Given the description of an element on the screen output the (x, y) to click on. 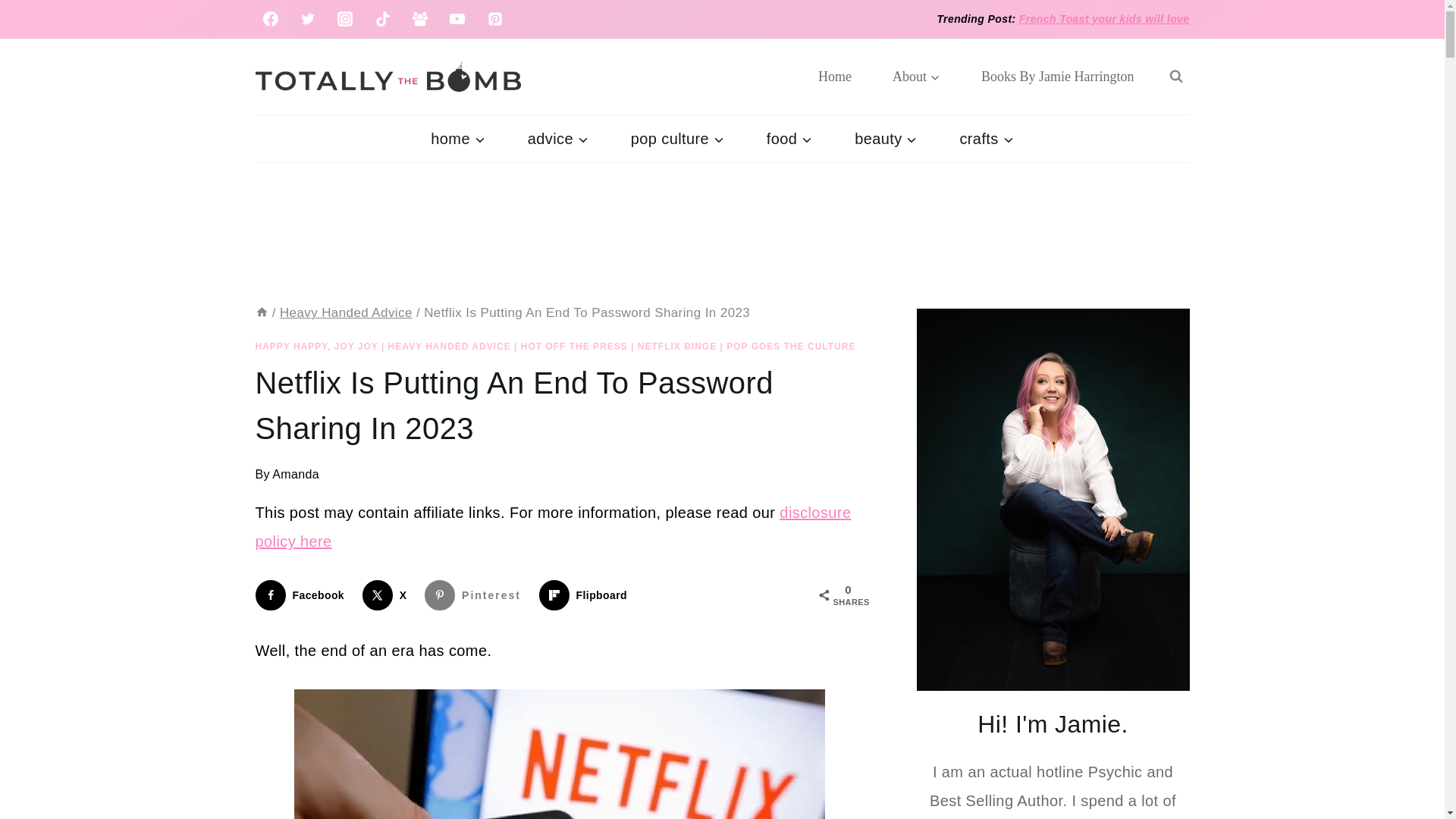
About (916, 76)
French Toast your kids will love (1104, 19)
pop culture (677, 138)
Share on Flipboard (585, 594)
Books By Jamie Harrington (1057, 76)
Home (260, 312)
advice (558, 138)
home (457, 138)
Share on X (387, 594)
Share on Facebook (302, 594)
